Given the description of an element on the screen output the (x, y) to click on. 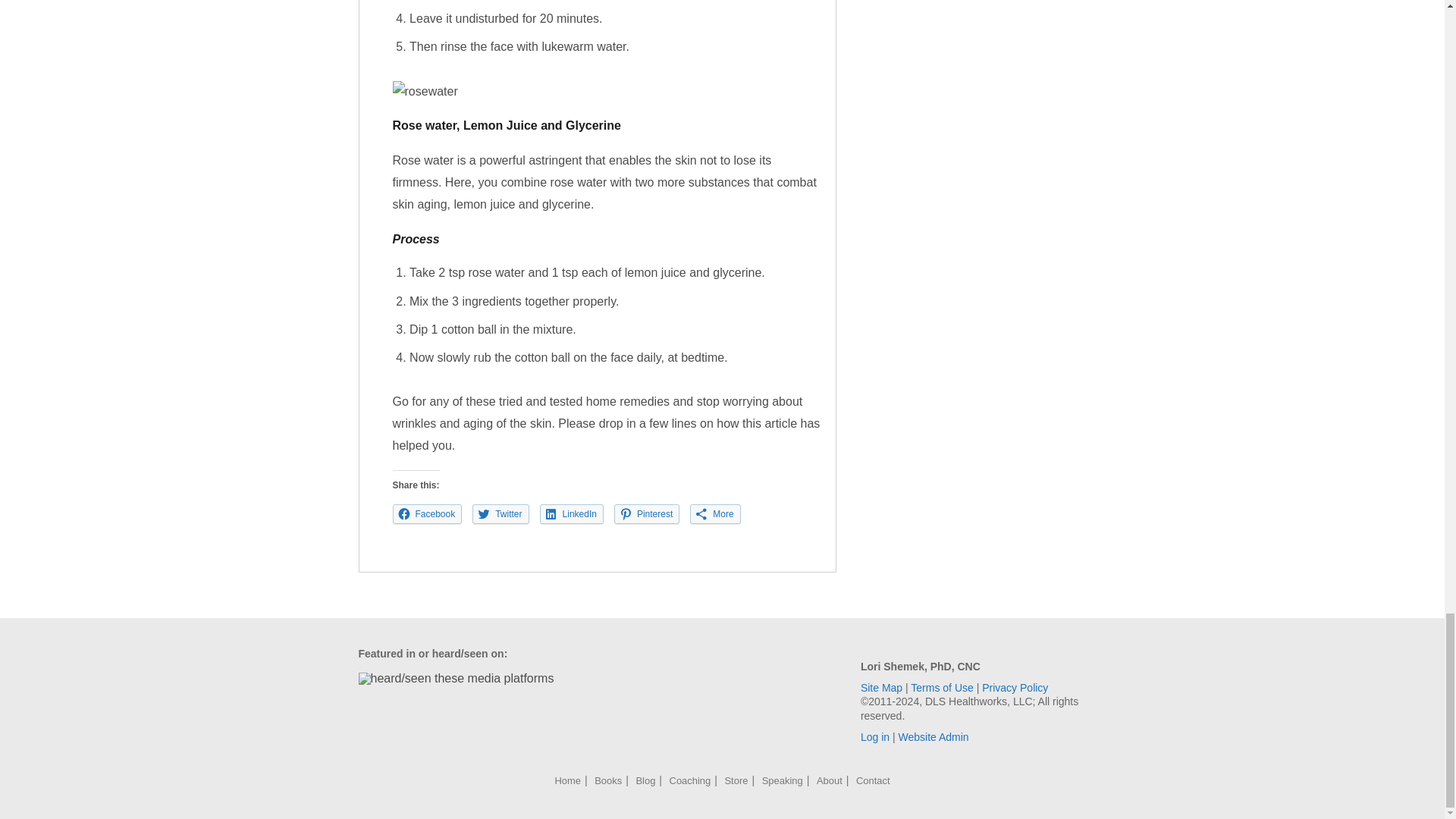
Facebook (428, 514)
Click to share on LinkedIn (572, 514)
Click to share on Pinterest (646, 514)
Pinterest (646, 514)
Click to share on Twitter (499, 514)
LinkedIn (572, 514)
Twitter (499, 514)
Click to share on Facebook (428, 514)
More (714, 514)
